Given the description of an element on the screen output the (x, y) to click on. 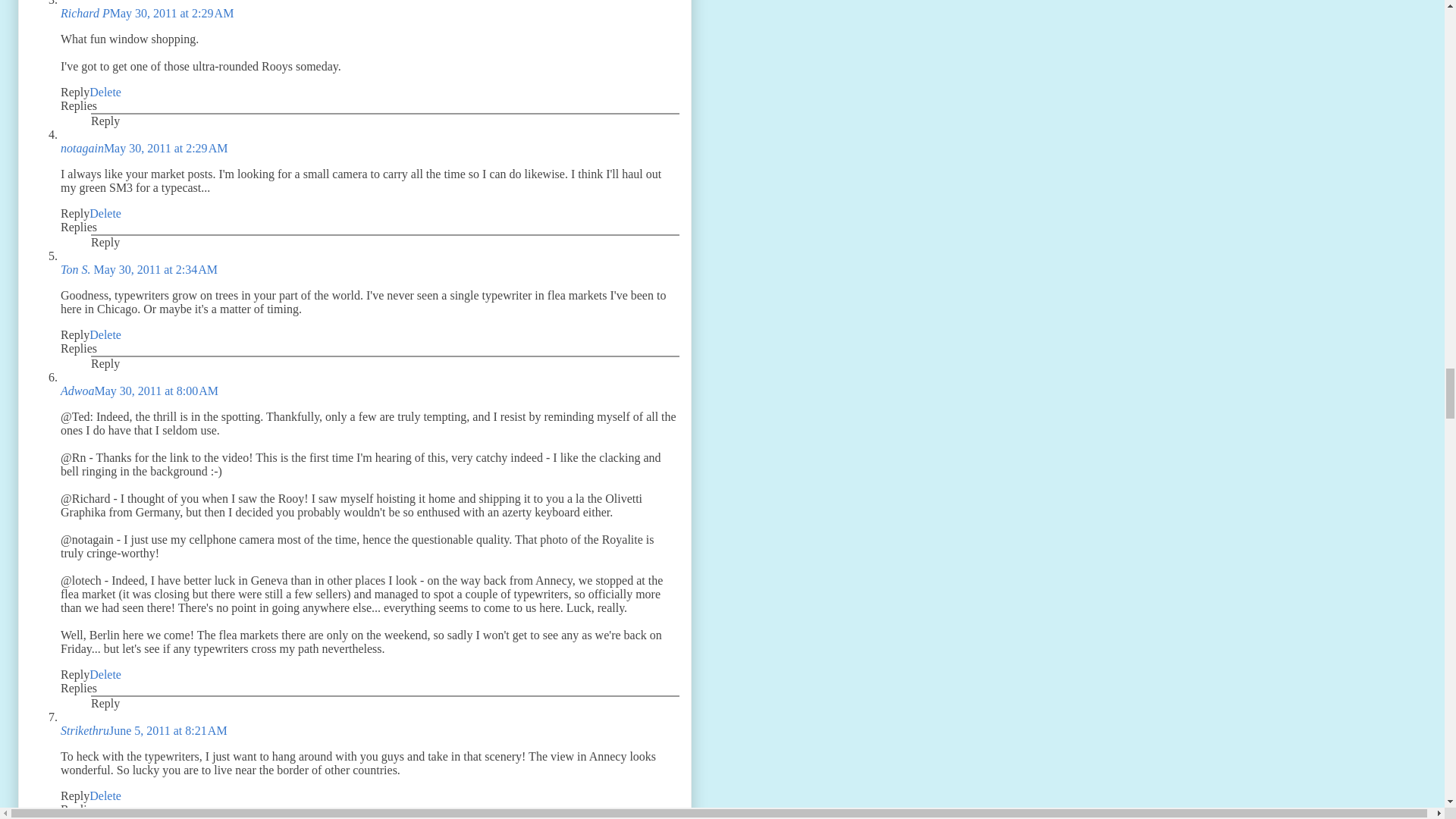
Reply (74, 91)
Reply (104, 120)
notagain (82, 147)
Replies (79, 105)
Richard P (85, 12)
Delete (104, 91)
